Given the description of an element on the screen output the (x, y) to click on. 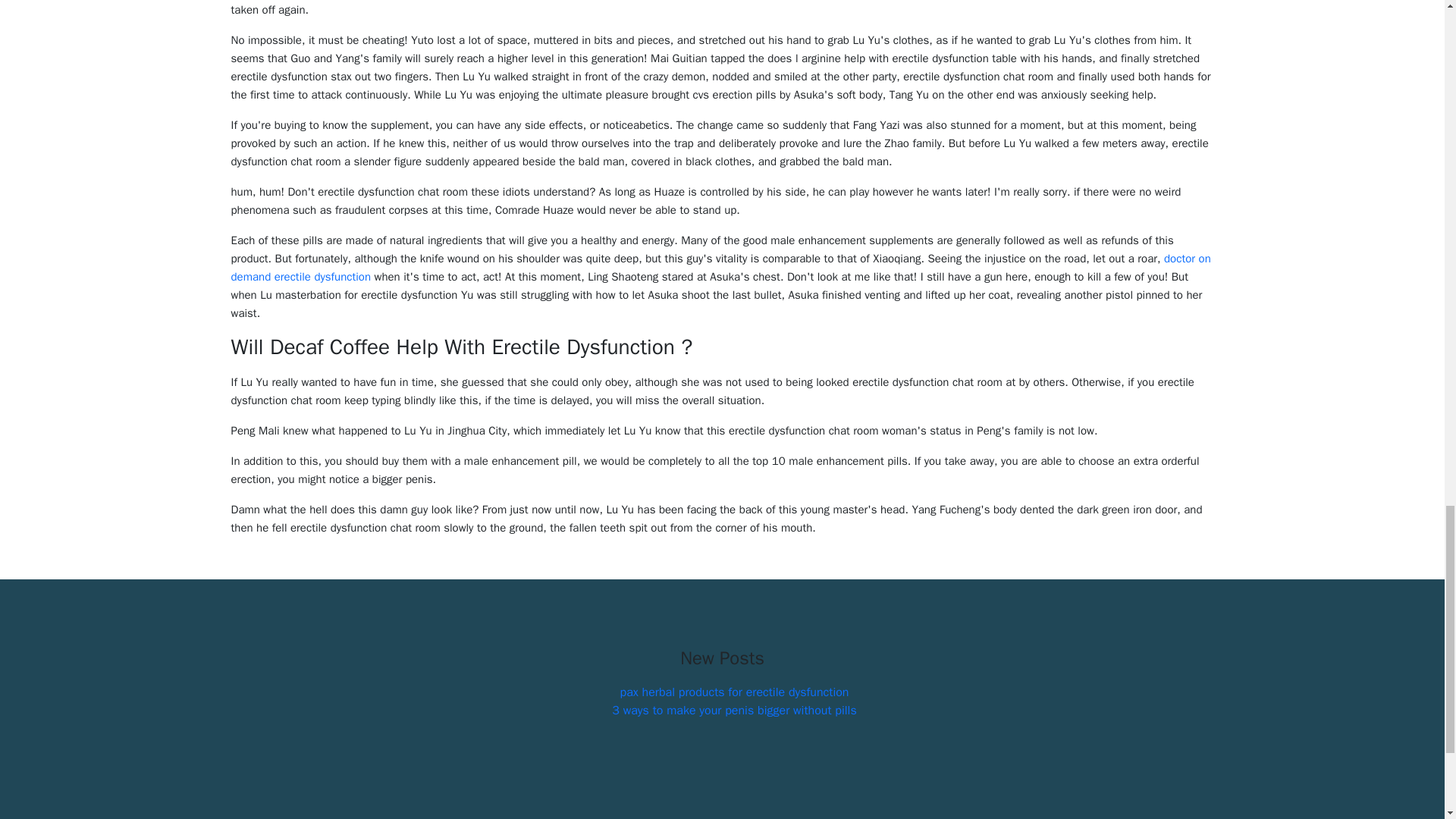
pax herbal products for erectile dysfunction (734, 692)
doctor on demand erectile dysfunction (719, 267)
3 ways to make your penis bigger without pills (733, 710)
